Given the description of an element on the screen output the (x, y) to click on. 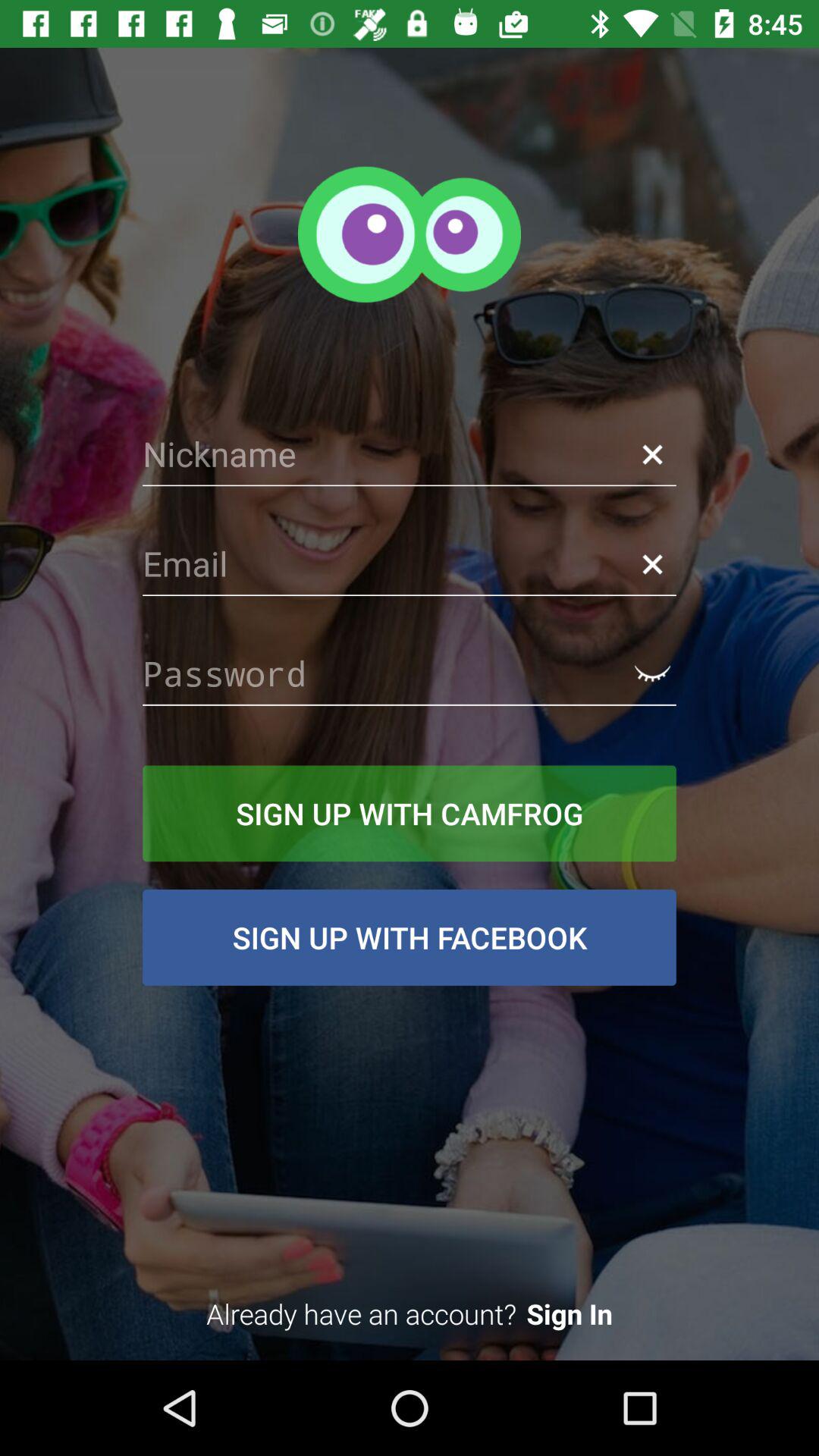
tap item above sign up with icon (409, 673)
